Given the description of an element on the screen output the (x, y) to click on. 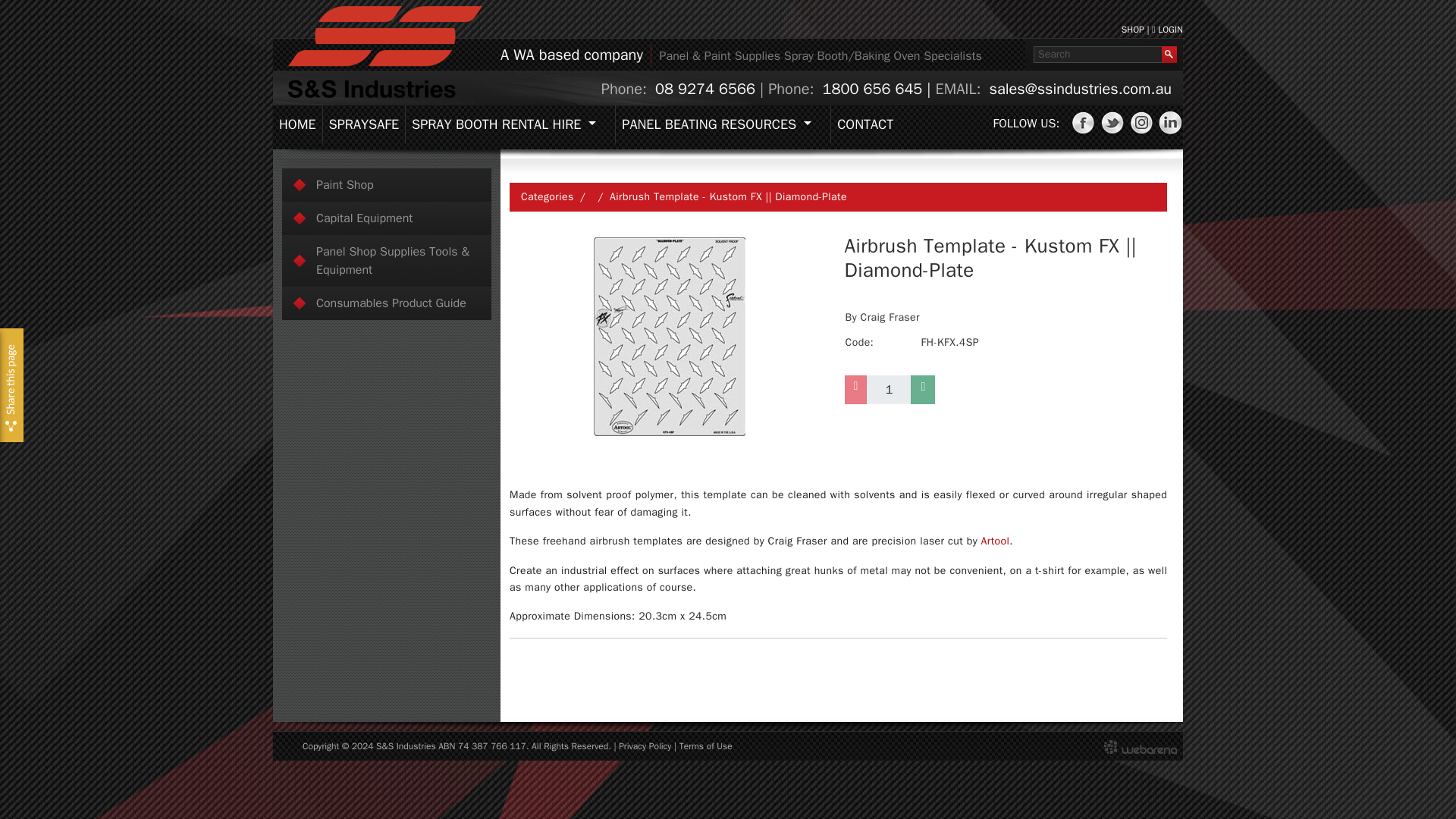
1 (888, 389)
SPRAYSAFE (362, 124)
Web Design Perth Australia (1139, 746)
HOME (297, 124)
SHOP (1132, 29)
CONTACT (864, 124)
Search (1097, 54)
Search (1097, 54)
Paint Shop (387, 184)
SPRAY BOOTH RENTAL HIRE (509, 124)
LOGIN (1166, 29)
PANEL BEATING RESOURCES (721, 124)
